Given the description of an element on the screen output the (x, y) to click on. 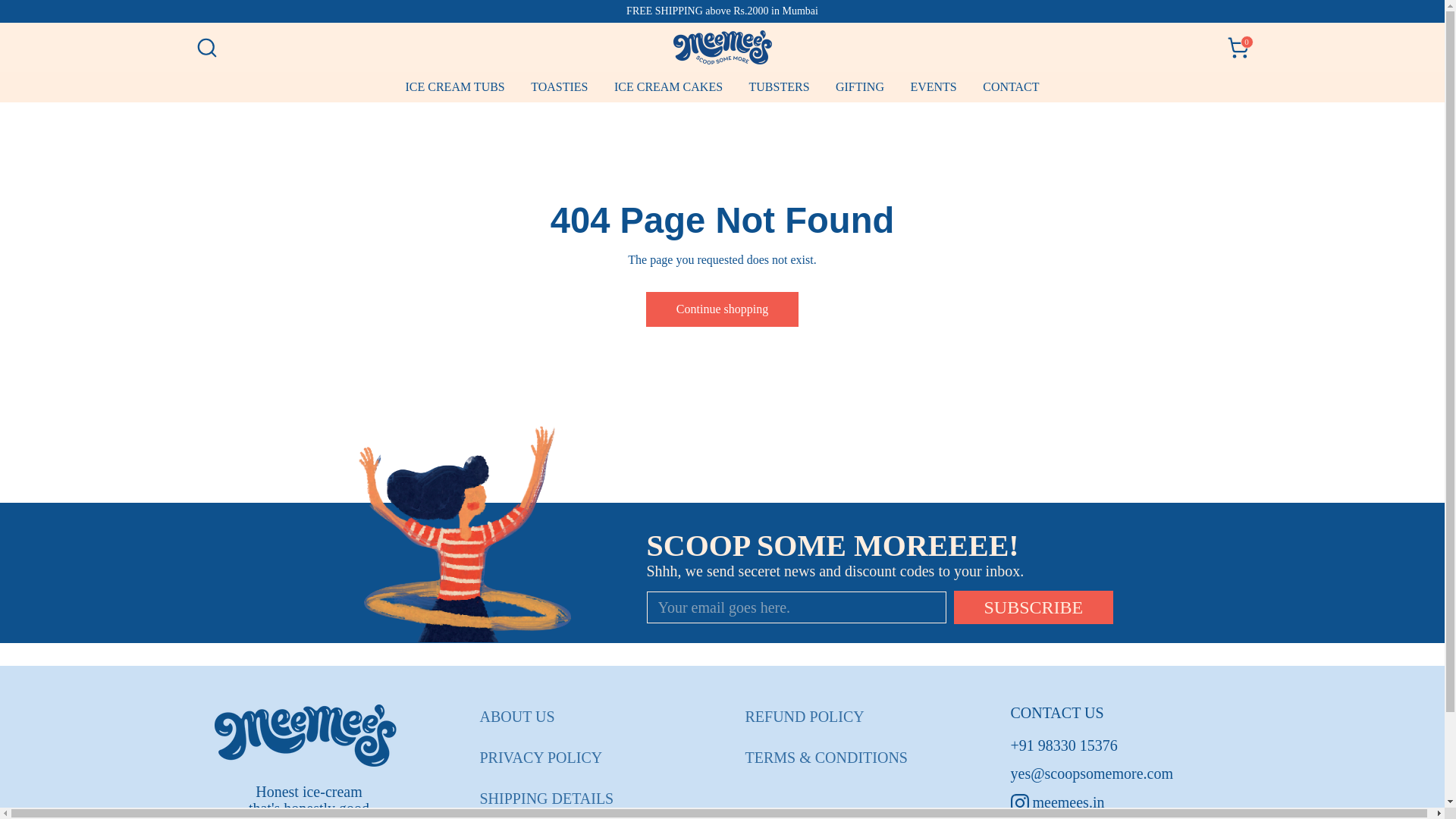
TOASTIES (558, 87)
ICE CREAM CAKES (1237, 47)
ABOUT US (667, 87)
EVENTS (516, 716)
GIFTING (933, 87)
Search (859, 87)
CONTACT (205, 47)
SUBSCRIBE (1010, 87)
TUBSTERS (1032, 607)
Continue shopping (779, 87)
ICE CREAM TUBS (721, 308)
REFUND POLICY (454, 87)
PRIVACY POLICY (803, 716)
SHIPPING DETAILS (540, 757)
